Given the description of an element on the screen output the (x, y) to click on. 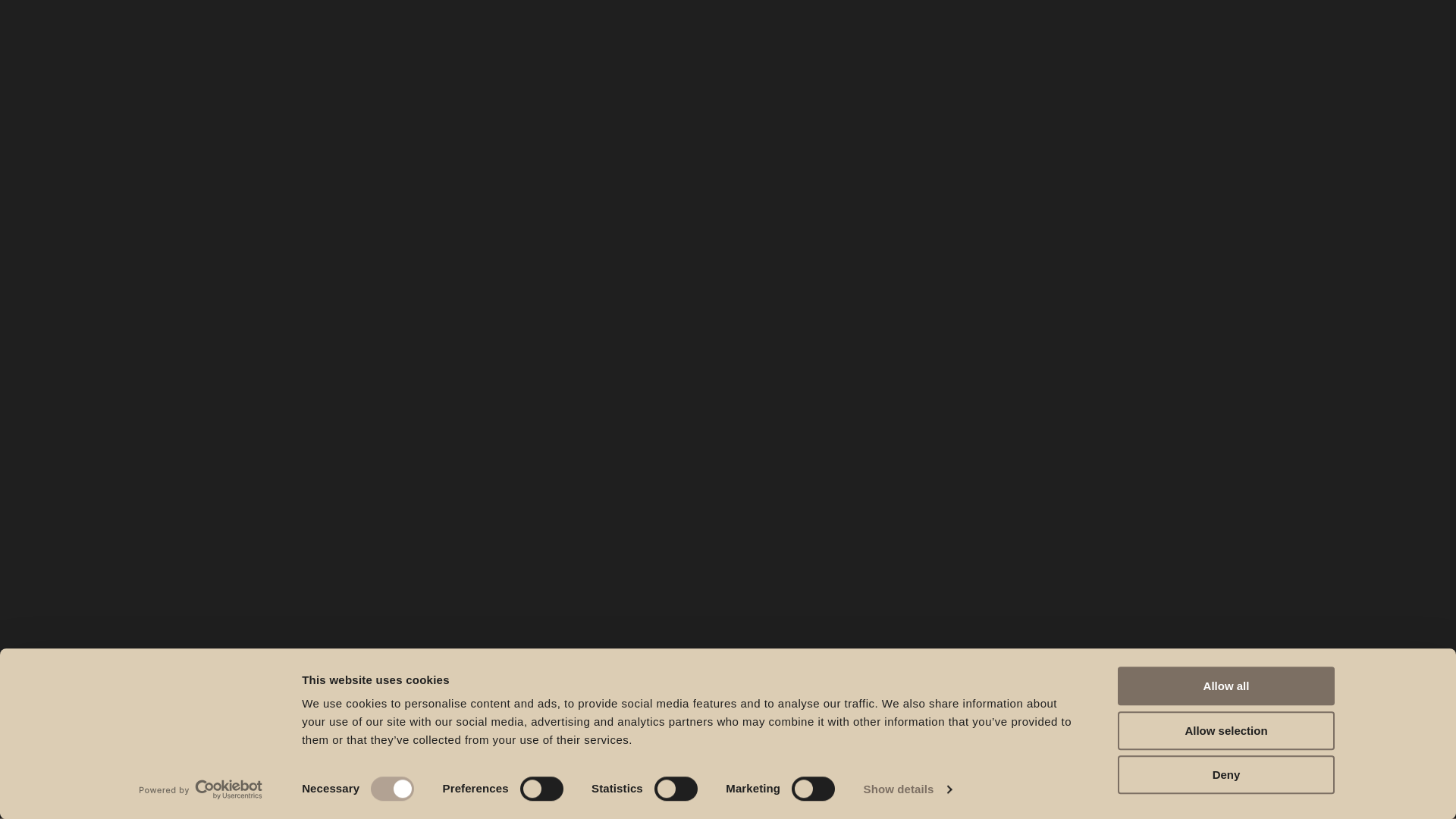
Process Element type: text (771, 41)
News Element type: text (1185, 41)
Privacy Element type: text (1255, 41)
Heraeus Element type: text (1076, 35)
Show details Element type: text (907, 789)
Contact Element type: text (1111, 41)
Deny Element type: text (1225, 774)
Activities Element type: text (854, 41)
Responsibility Element type: text (1018, 41)
Explore Element type: text (659, 676)
Allow all Element type: text (1225, 685)
Allow selection Element type: text (1225, 730)
EN Element type: text (1188, 35)
About Element type: text (930, 41)
